Given the description of an element on the screen output the (x, y) to click on. 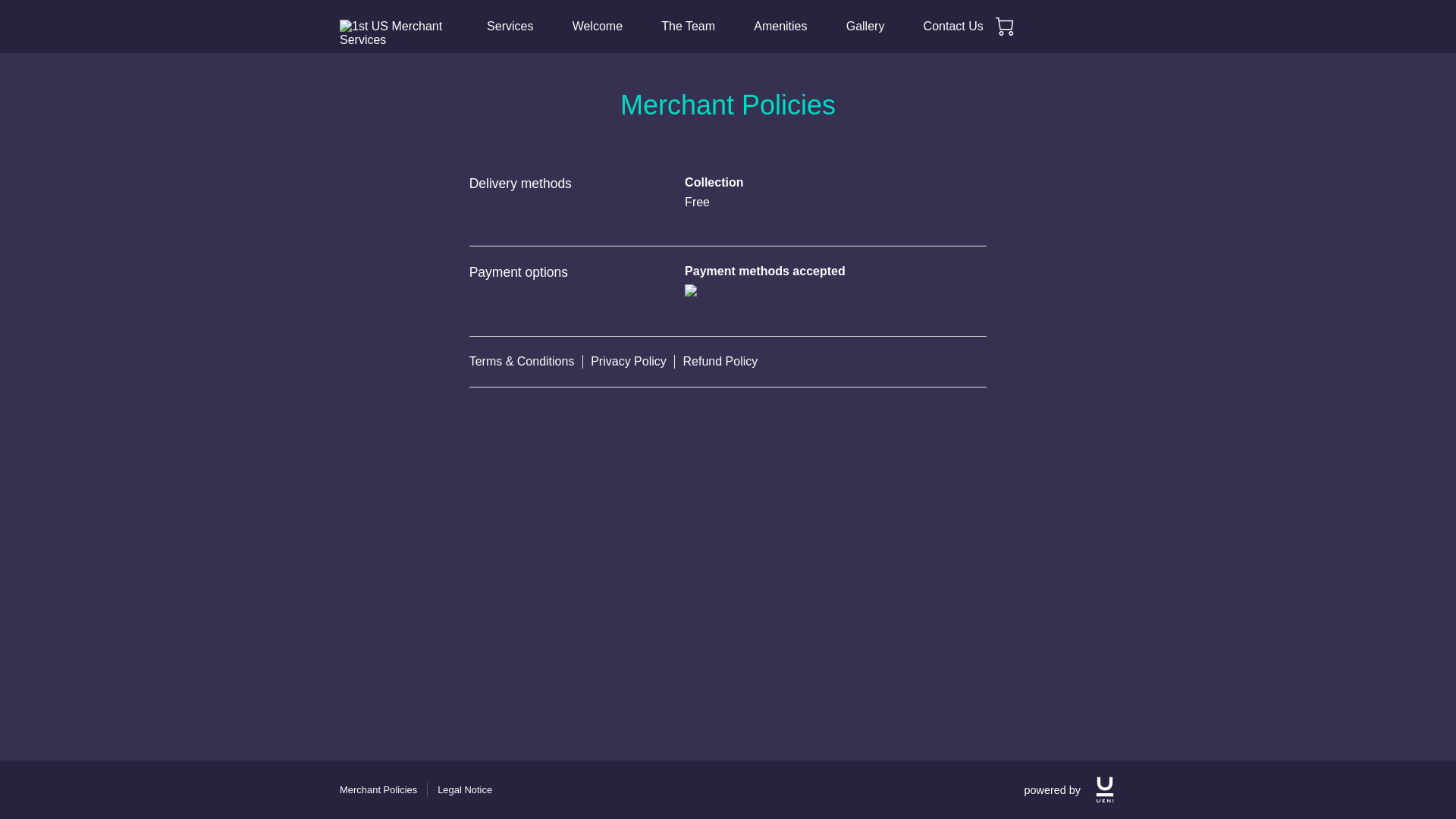
Contact Us Element type: text (953, 26)
Merchant Policies Element type: text (378, 789)
Services Element type: text (509, 26)
Gallery Element type: text (865, 26)
Refund Policy Element type: text (720, 361)
Welcome Element type: text (597, 26)
Terms & Conditions Element type: text (526, 361)
0 Element type: text (1004, 26)
Legal Notice Element type: text (464, 789)
The Team Element type: text (688, 26)
Privacy Policy Element type: text (632, 361)
Amenities Element type: text (779, 26)
